Given the description of an element on the screen output the (x, y) to click on. 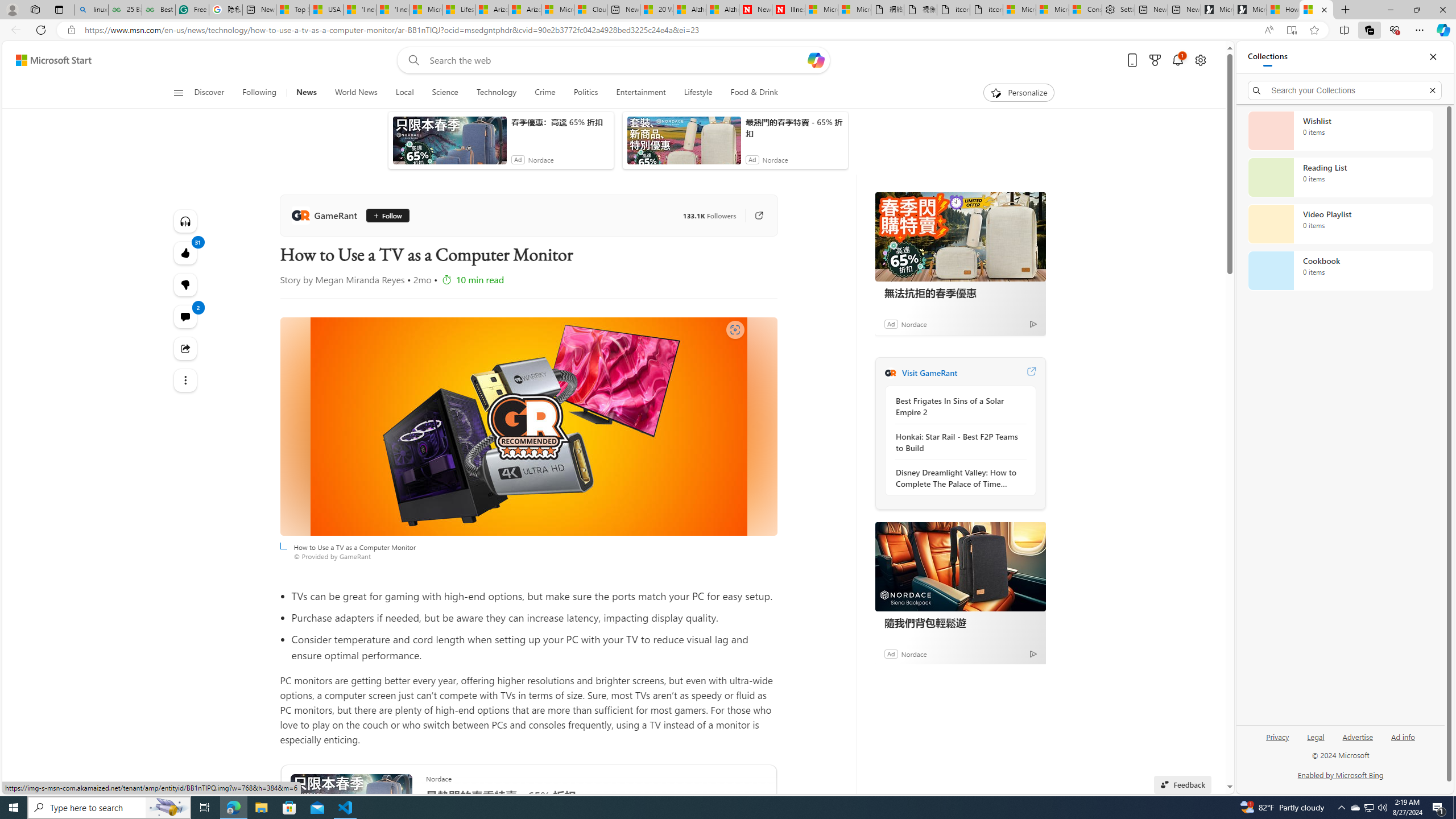
Consumer Health Data Privacy Policy (1085, 9)
Legal (1315, 736)
Discover (213, 92)
Newsweek - News, Analysis, Politics, Business, Technology (755, 9)
Local (403, 92)
anim-content (683, 144)
Food & Drink (753, 92)
Local (404, 92)
View comments 2 Comment (184, 316)
Open navigation menu (177, 92)
Microsoft rewards (1154, 60)
31 Like (184, 252)
Food & Drink (748, 92)
